Given the description of an element on the screen output the (x, y) to click on. 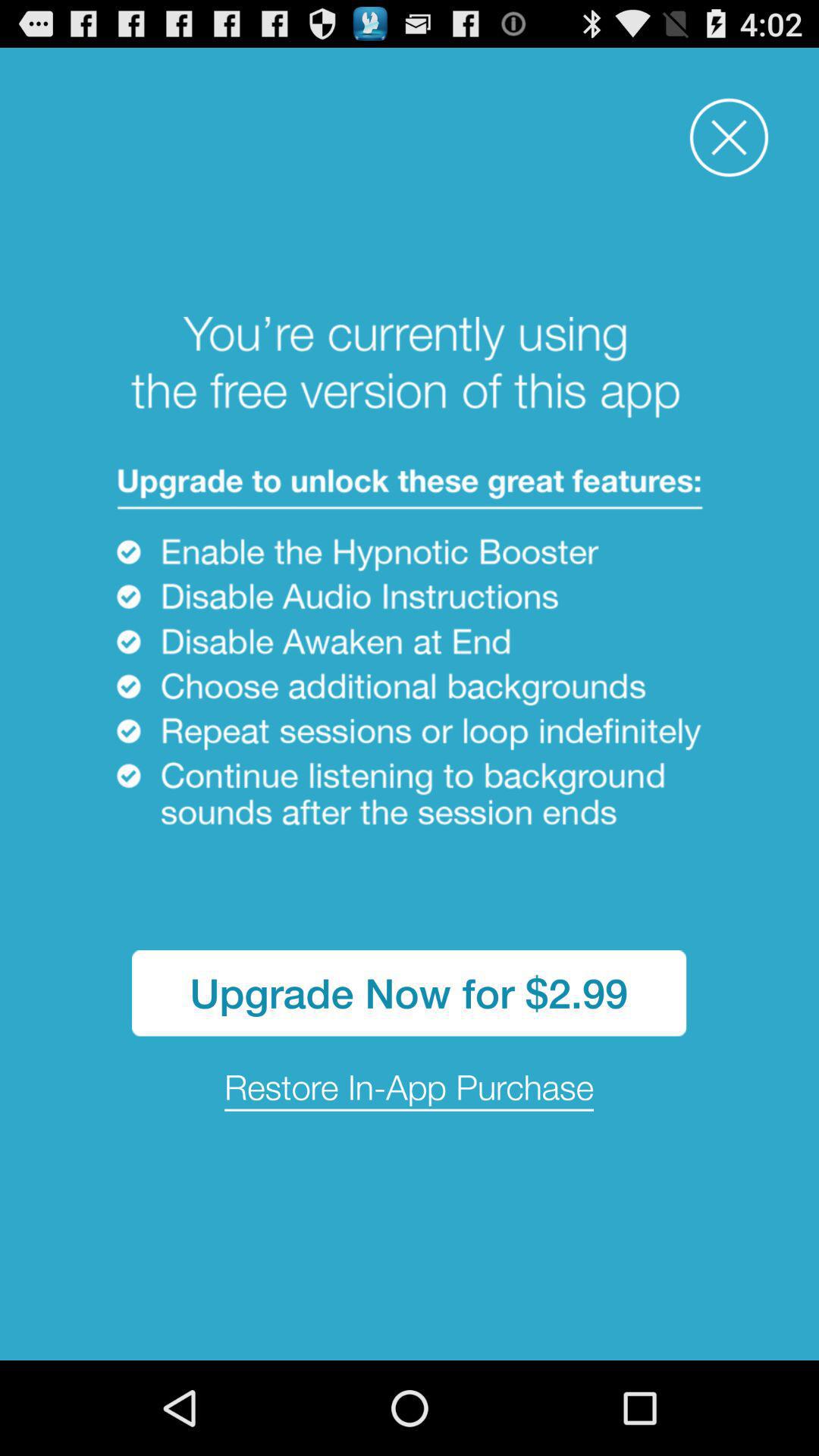
open upgrade now for (408, 993)
